Given the description of an element on the screen output the (x, y) to click on. 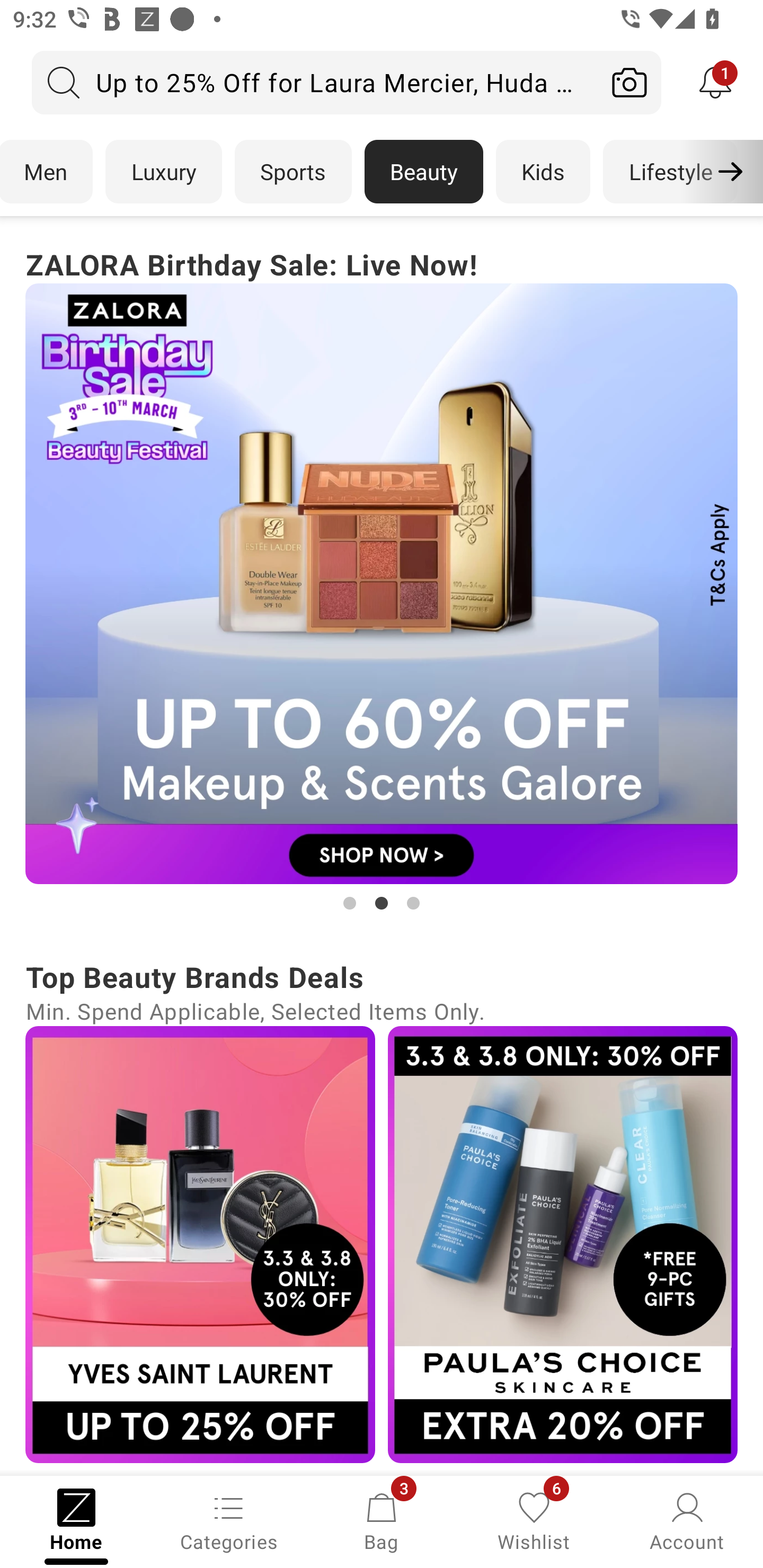
Men (46, 171)
Luxury (163, 171)
Sports (293, 171)
Beauty (423, 171)
Kids (542, 171)
Lifestyle (669, 171)
ZALORA Birthday Sale: Live Now!  Campaign banner (381, 578)
Campaign banner (381, 583)
Campaign banner (200, 1243)
Campaign banner (562, 1243)
Categories (228, 1519)
Bag, 3 new notifications Bag (381, 1519)
Wishlist, 6 new notifications Wishlist (533, 1519)
Account (686, 1519)
